Given the description of an element on the screen output the (x, y) to click on. 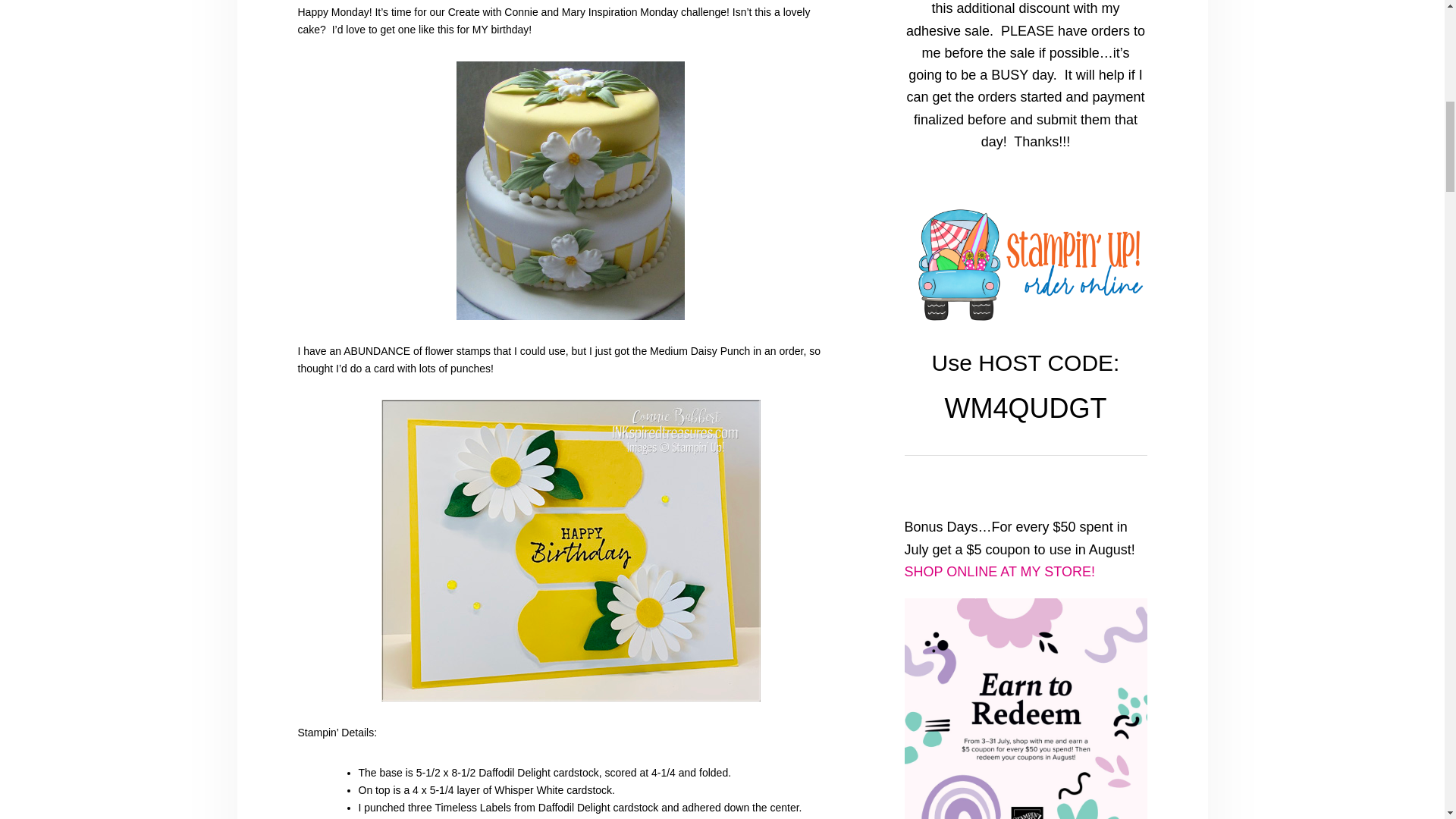
SHOP ONLINE AT MY STORE! (999, 571)
